Given the description of an element on the screen output the (x, y) to click on. 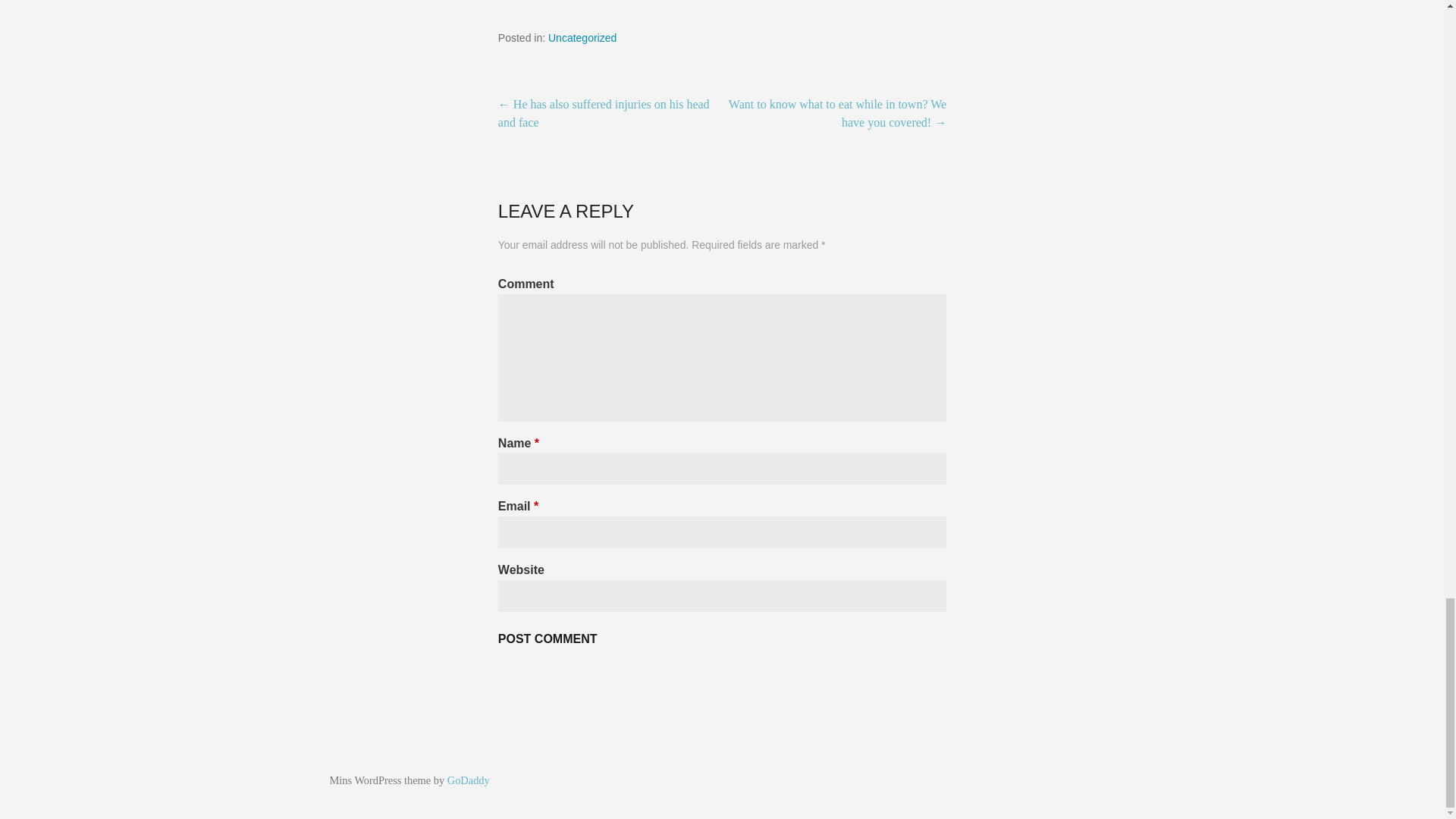
Post Comment (546, 639)
Post Comment (546, 639)
GoDaddy (467, 779)
Uncategorized (581, 37)
